Given the description of an element on the screen output the (x, y) to click on. 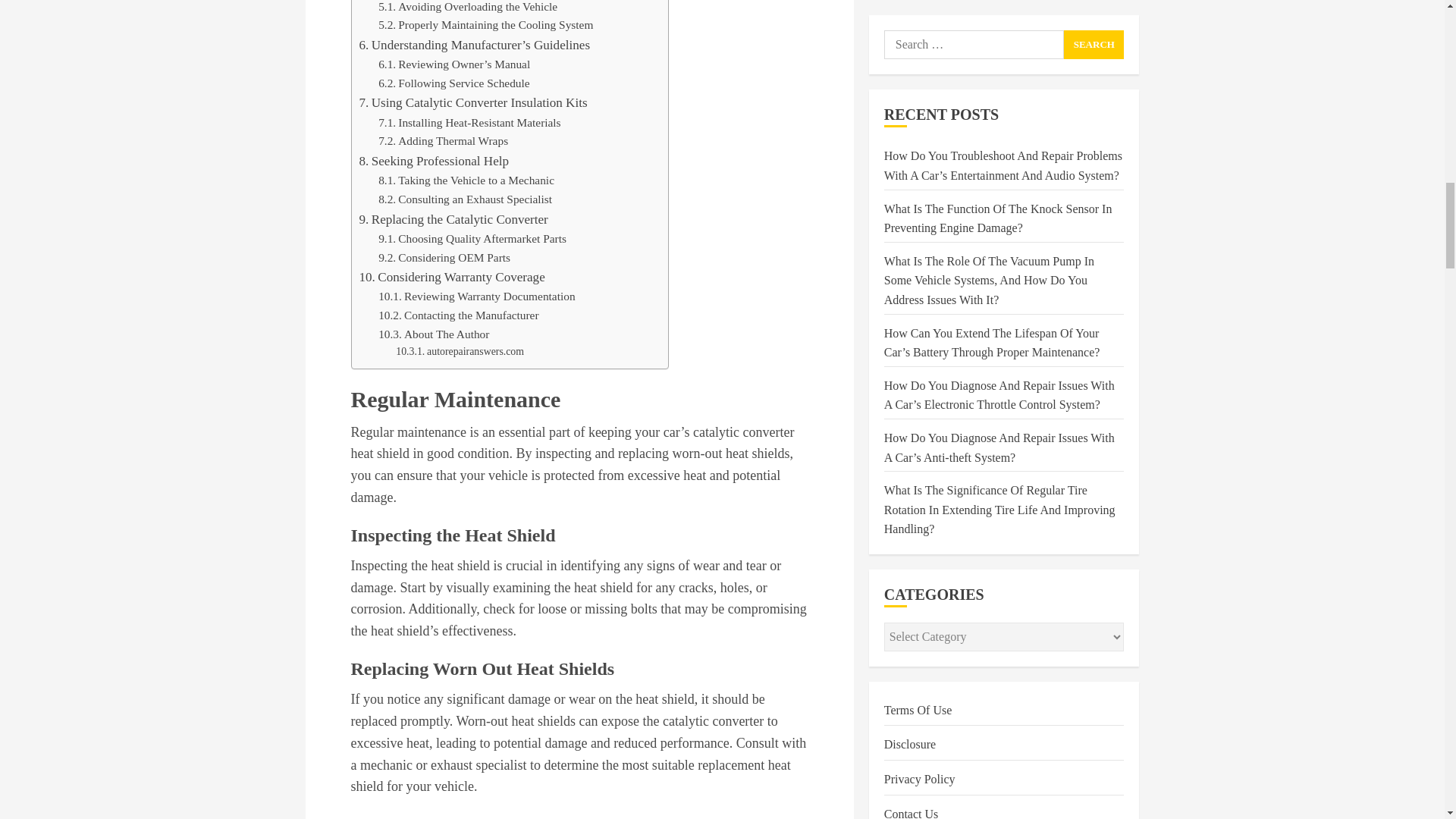
Avoiding Overloading the Vehicle (467, 8)
Properly Maintaining the Cooling System (485, 25)
Avoiding Overloading the Vehicle (467, 8)
